Given the description of an element on the screen output the (x, y) to click on. 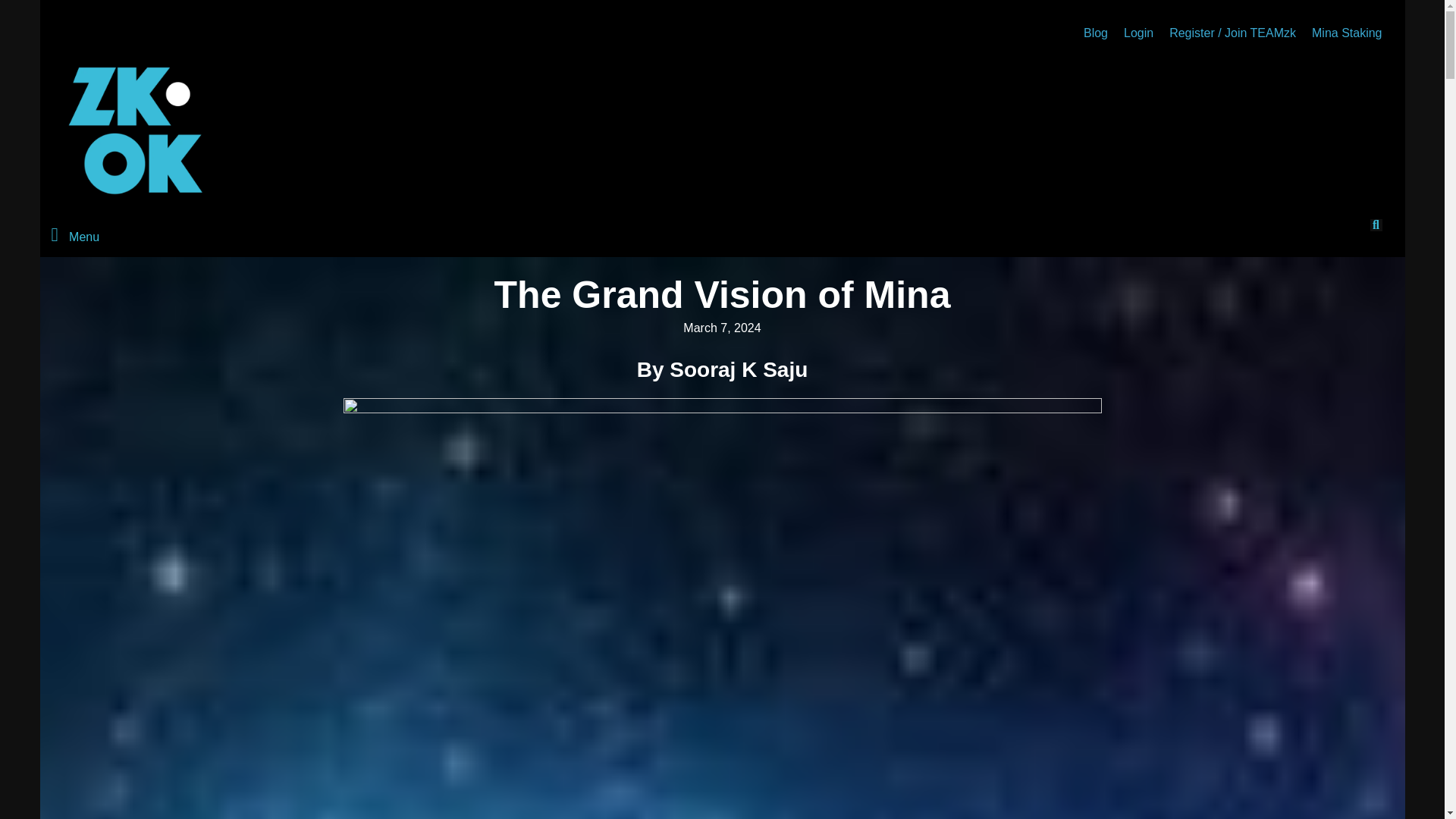
By Sooraj K Saju (722, 369)
Login (1138, 32)
Menu (381, 235)
cropped-logo-web-1.png (135, 130)
Blog (1095, 32)
Mina Staking (1347, 32)
